Given the description of an element on the screen output the (x, y) to click on. 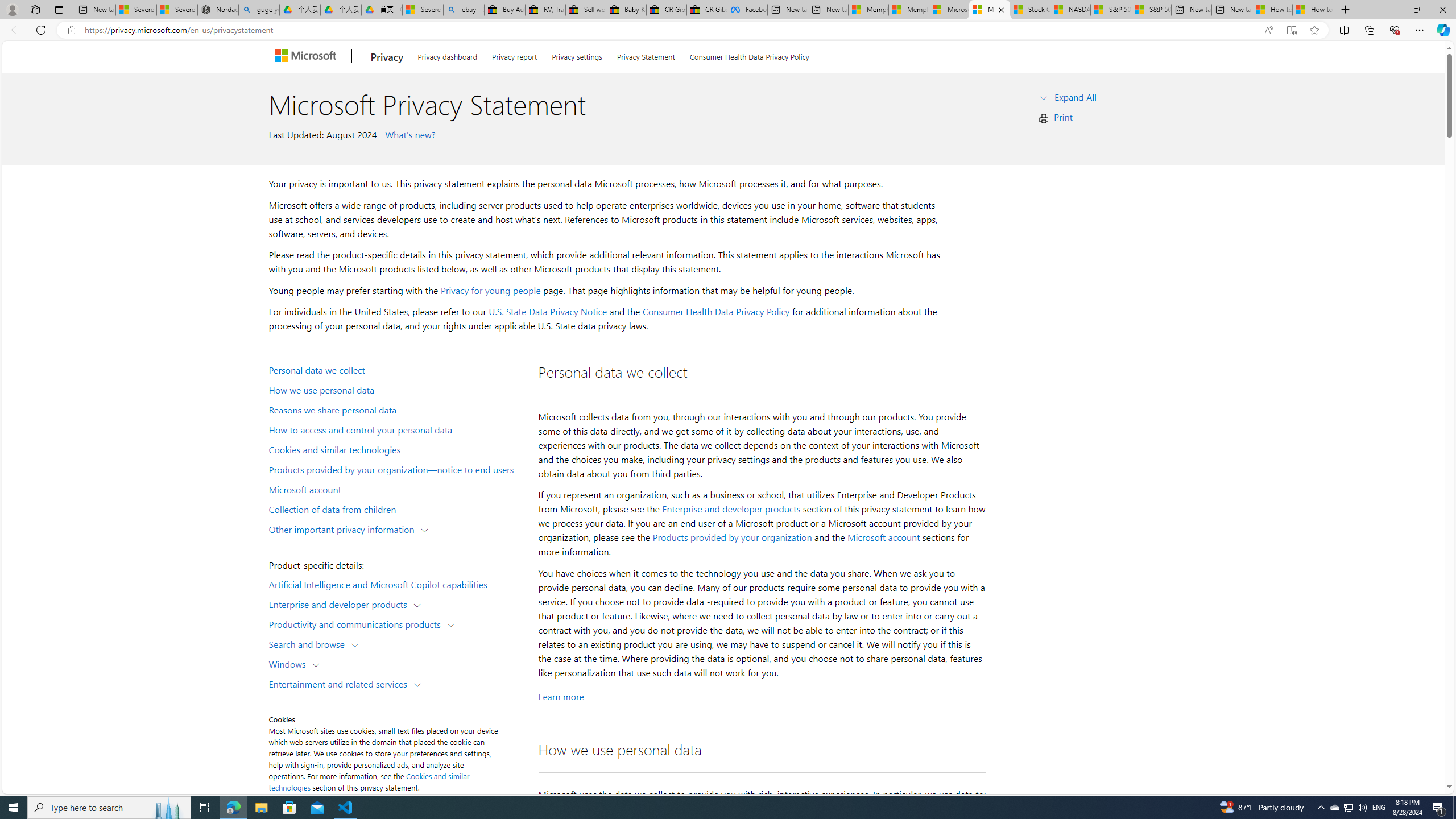
Consumer Health Data Privacy Policy (748, 54)
Print (1063, 116)
Collection of data from children (395, 508)
Search and browse (308, 643)
U.S. State Data Privacy Notice (548, 311)
Privacy Statement (645, 54)
